Given the description of an element on the screen output the (x, y) to click on. 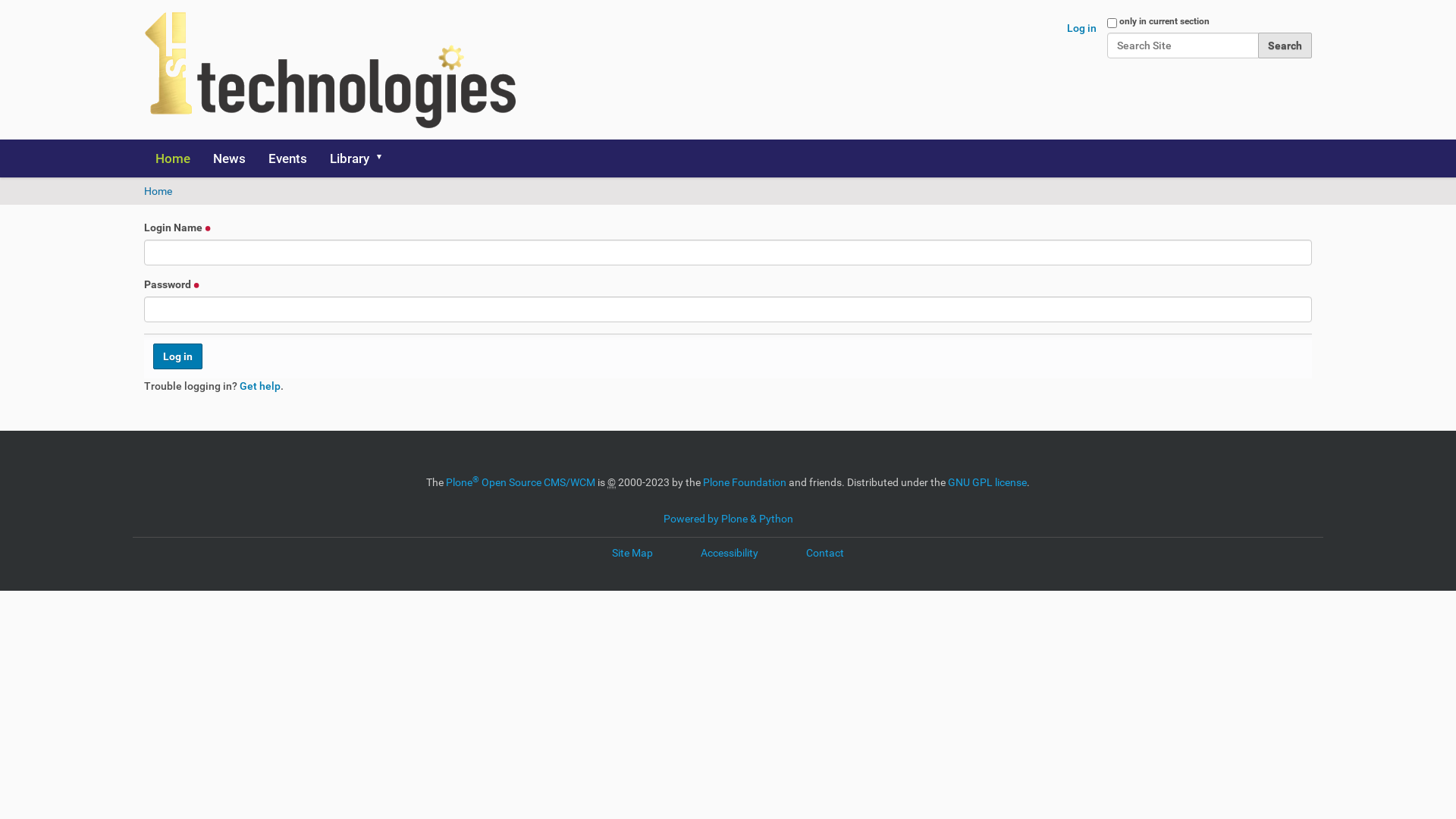
Required Element type: hover (207, 227)
Site Map Element type: text (631, 552)
Log in Element type: text (177, 356)
Search Element type: text (1284, 45)
Plone Foundation Element type: text (744, 482)
Library Element type: text (356, 158)
Home Element type: text (158, 191)
1st Technologies, Inc. Element type: hover (329, 69)
Powered by Plone & Python Element type: text (727, 518)
Events Element type: text (287, 158)
Contact Element type: text (825, 552)
Search Site Element type: hover (1182, 45)
GNU GPL license Element type: text (986, 482)
Required Element type: hover (196, 284)
Home Element type: text (172, 158)
Accessibility Element type: text (729, 552)
Log in Element type: text (1081, 27)
Get help Element type: text (259, 385)
News Element type: text (229, 158)
